Given the description of an element on the screen output the (x, y) to click on. 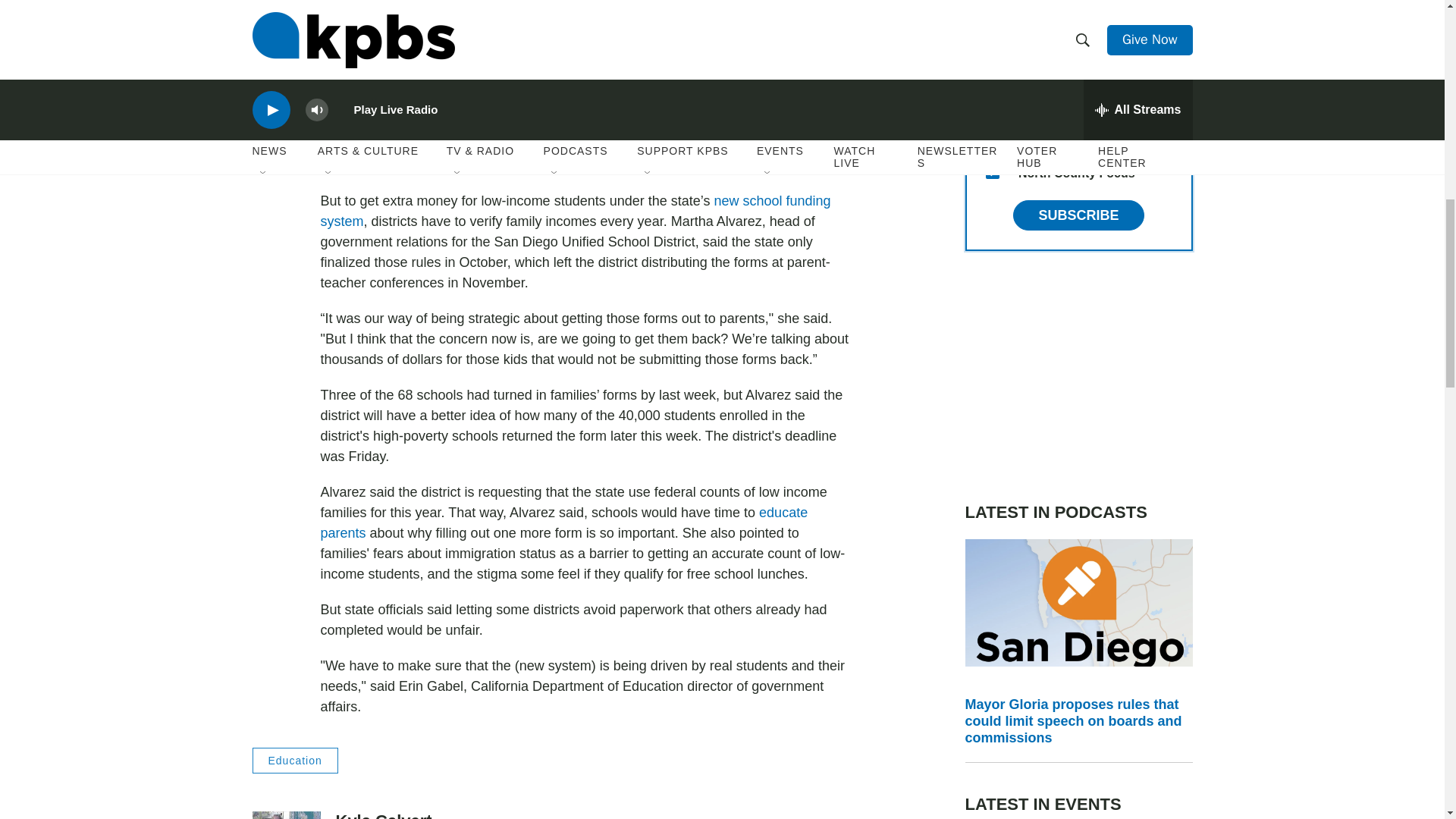
1 (991, 99)
2 (991, 62)
15 (991, 172)
6 (991, 26)
8 (991, 135)
